Given the description of an element on the screen output the (x, y) to click on. 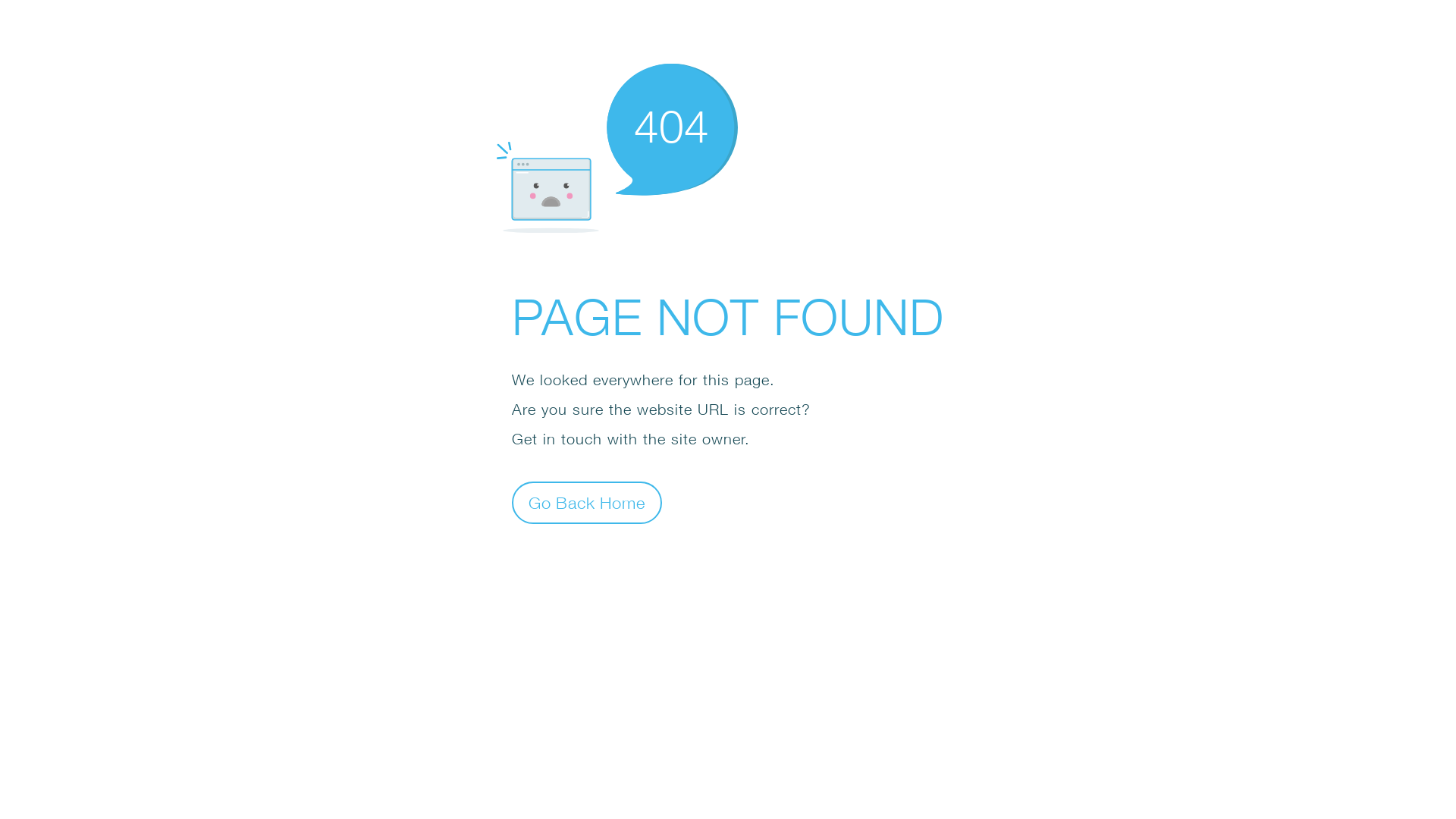
Go Back Home Element type: text (586, 502)
